Given the description of an element on the screen output the (x, y) to click on. 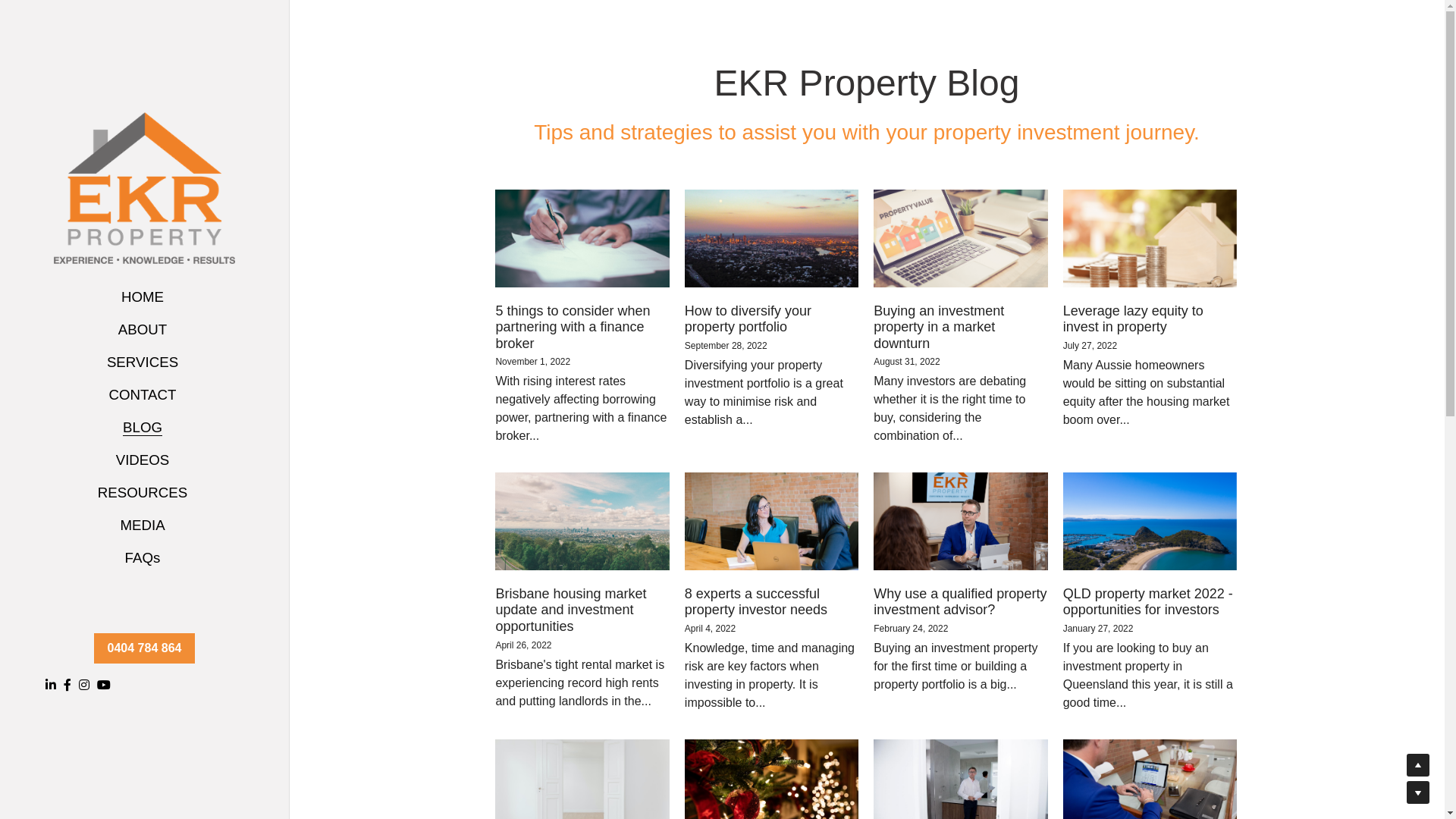
SERVICES Element type: text (142, 362)
Brisbane housing market update and investment opportunities Element type: text (570, 609)
CONTACT Element type: text (141, 394)
ABOUT Element type: text (142, 329)
MEDIA Element type: text (141, 525)
0404 784 864 Element type: text (144, 648)
5 things to consider when partnering with a finance broker Element type: text (572, 327)
QLD property market 2022 - opportunities for investors Element type: text (1148, 602)
VIDEOS Element type: text (142, 459)
Buying an investment property in a market downturn Element type: text (938, 327)
How to diversify your property portfolio Element type: text (747, 319)
BLOG Element type: text (142, 427)
EKR Property - Property Investment Consultancy & Advisory Element type: hover (143, 187)
RESOURCES Element type: text (142, 492)
8 experts a successful property investor needs Element type: text (755, 602)
FAQs Element type: text (142, 557)
HOME Element type: text (142, 296)
Leverage lazy equity to invest in property Element type: text (1133, 319)
Why use a qualified property investment advisor? Element type: text (959, 602)
